Given the description of an element on the screen output the (x, y) to click on. 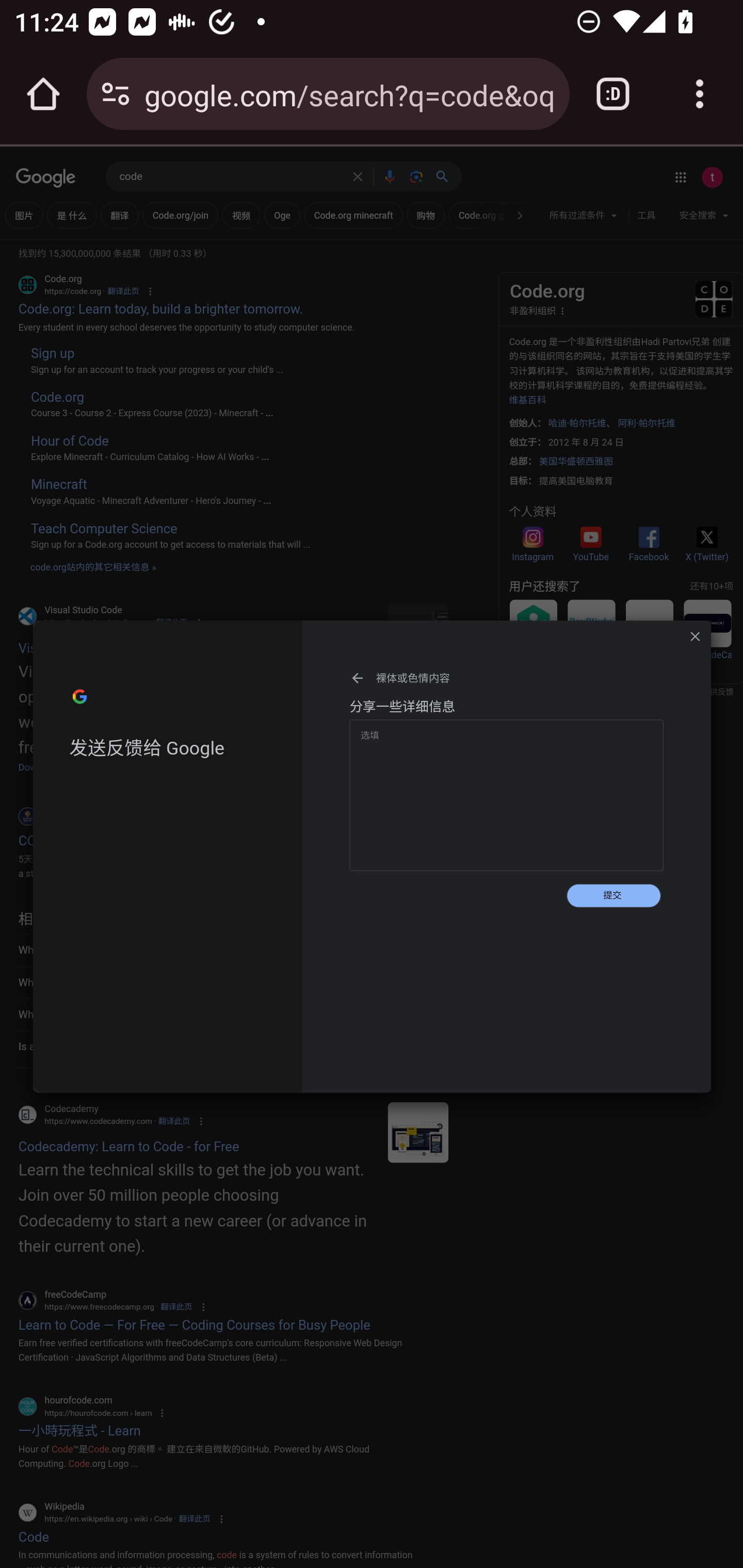
Open the home page (43, 93)
Connection is secure (115, 93)
Switch or close tabs (612, 93)
Customize and control Google Chrome (699, 93)
关闭 (694, 636)
返回 裸体或色情内容 (506, 677)
提交 (613, 894)
